Given the description of an element on the screen output the (x, y) to click on. 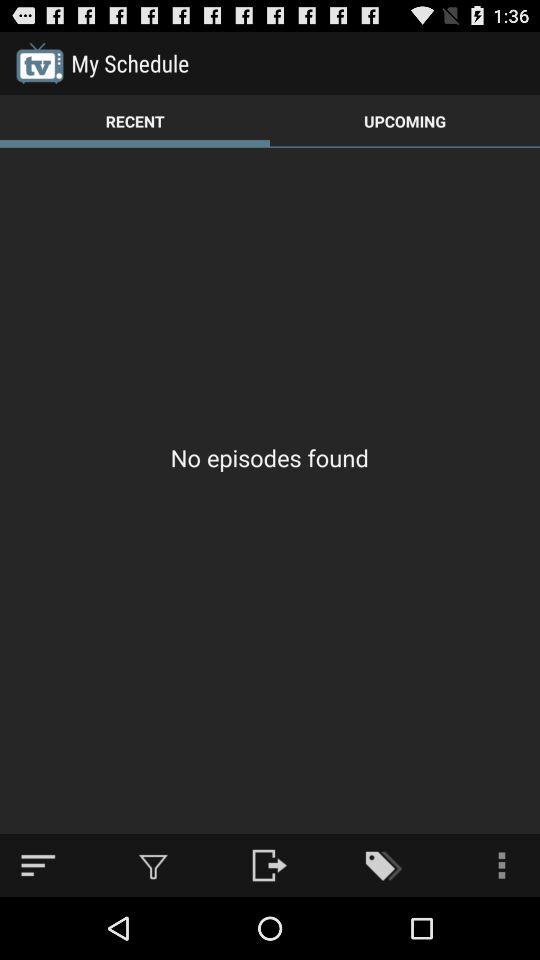
swipe until recent icon (135, 120)
